Given the description of an element on the screen output the (x, y) to click on. 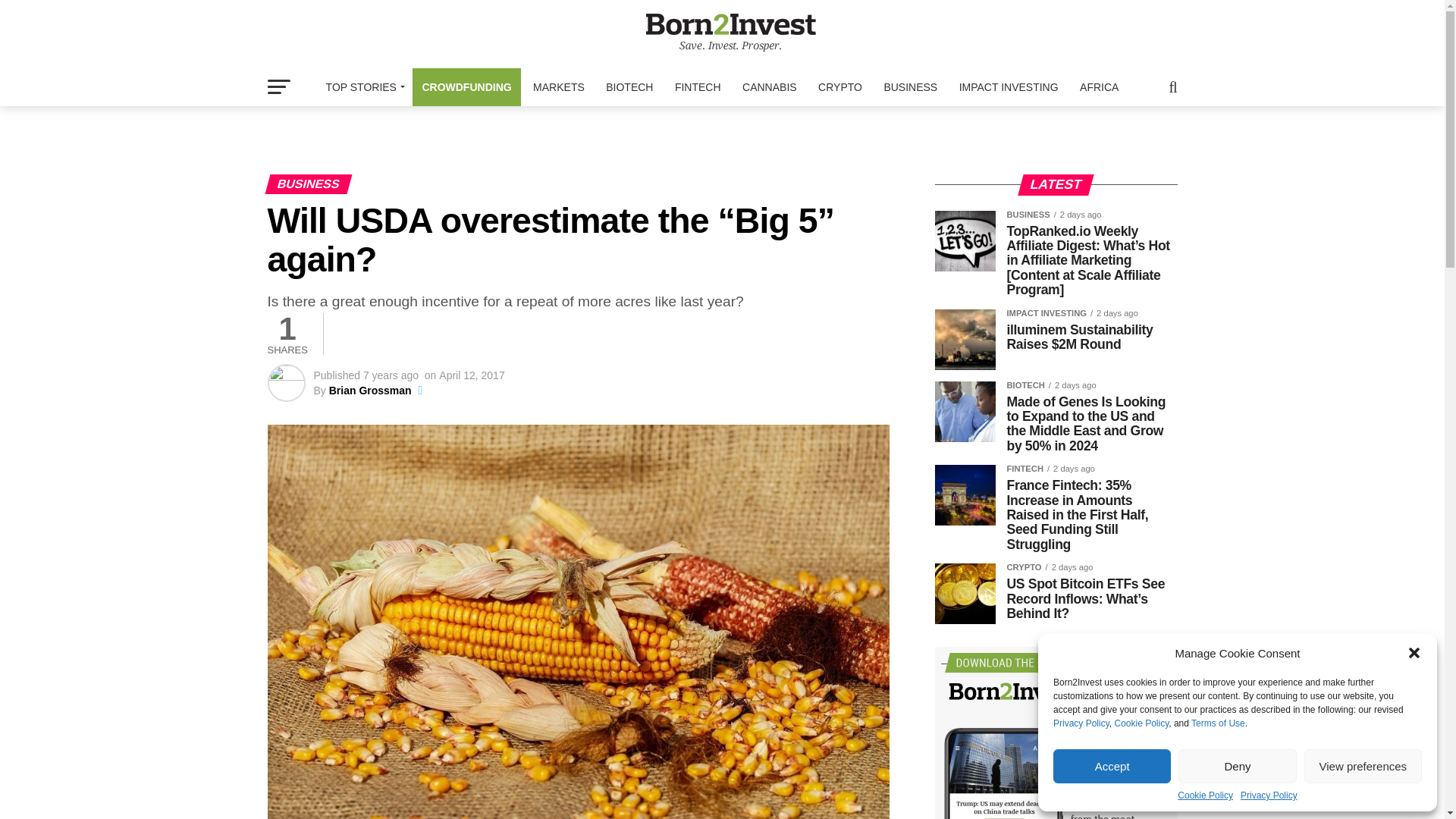
CROWDFUNDING (465, 86)
TOP STORIES (363, 86)
Cookie Policy (1205, 795)
Posts by Brian Grossman (370, 390)
CANNABIS (769, 86)
Accept (1111, 765)
FINTECH (697, 86)
Privacy Policy (1268, 795)
Privacy Policy (1080, 723)
Deny (1236, 765)
Terms of Use (1217, 723)
MARKETS (559, 86)
View preferences (1363, 765)
Cookie Policy (1141, 723)
BIOTECH (629, 86)
